Given the description of an element on the screen output the (x, y) to click on. 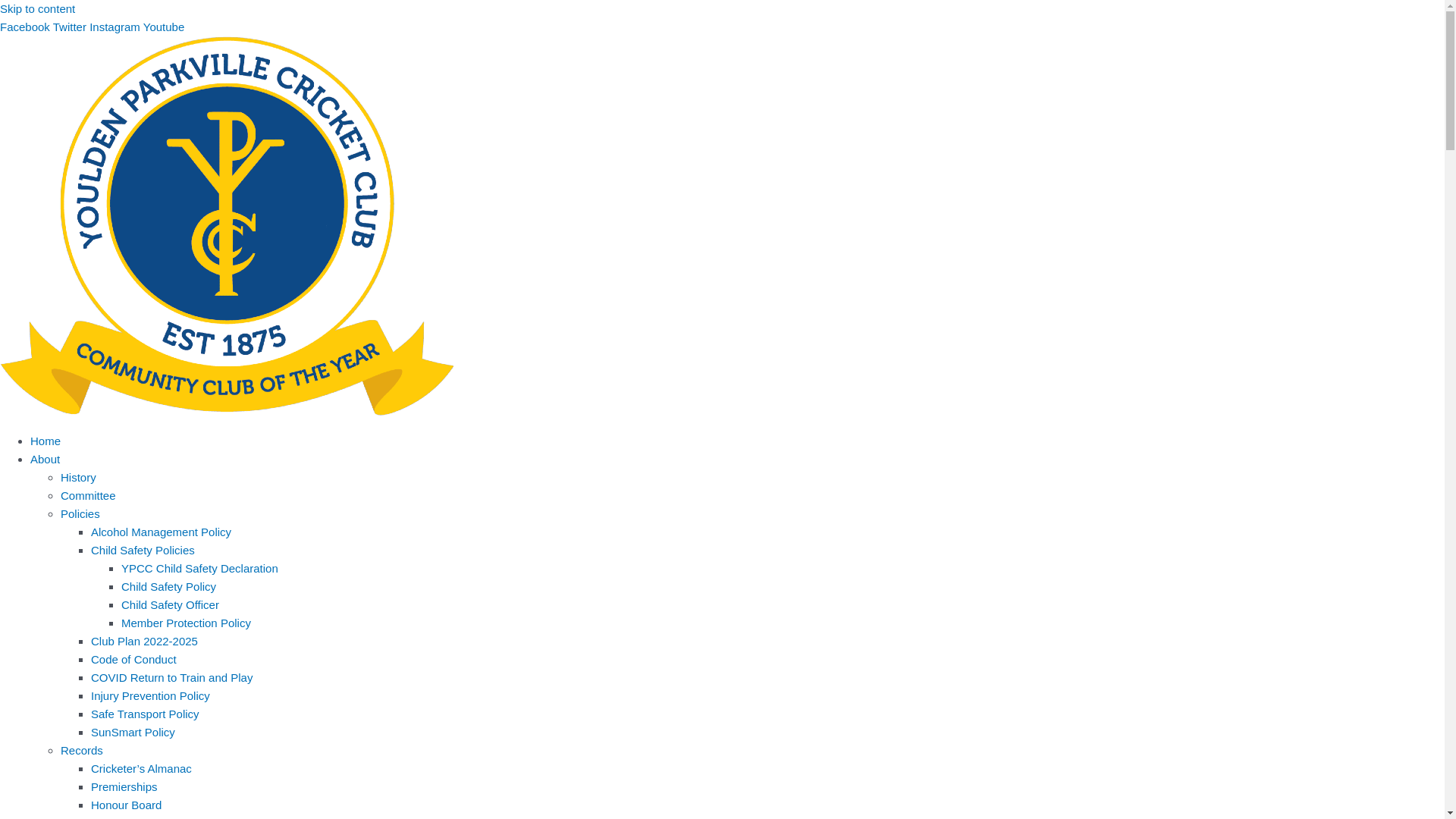
Policies Element type: text (80, 513)
Twitter Element type: text (71, 26)
Honour Board Element type: text (126, 804)
Member Protection Policy Element type: text (186, 622)
Safe Transport Policy Element type: text (145, 713)
About Element type: text (44, 458)
Child Safety Policies Element type: text (142, 549)
Premierships Element type: text (124, 786)
Alcohol Management Policy Element type: text (161, 531)
Injury Prevention Policy Element type: text (150, 695)
Instagram Element type: text (116, 26)
Code of Conduct Element type: text (133, 658)
Home Element type: text (45, 440)
Child Safety Policy Element type: text (168, 586)
COVID Return to Train and Play Element type: text (171, 677)
Club Plan 2022-2025 Element type: text (144, 640)
Facebook Element type: text (26, 26)
SunSmart Policy Element type: text (133, 731)
Records Element type: text (81, 749)
YPCC Child Safety Declaration Element type: text (199, 567)
History Element type: text (78, 476)
Committee Element type: text (88, 495)
Youtube Element type: text (164, 26)
Child Safety Officer Element type: text (170, 604)
Skip to content Element type: text (37, 8)
